Given the description of an element on the screen output the (x, y) to click on. 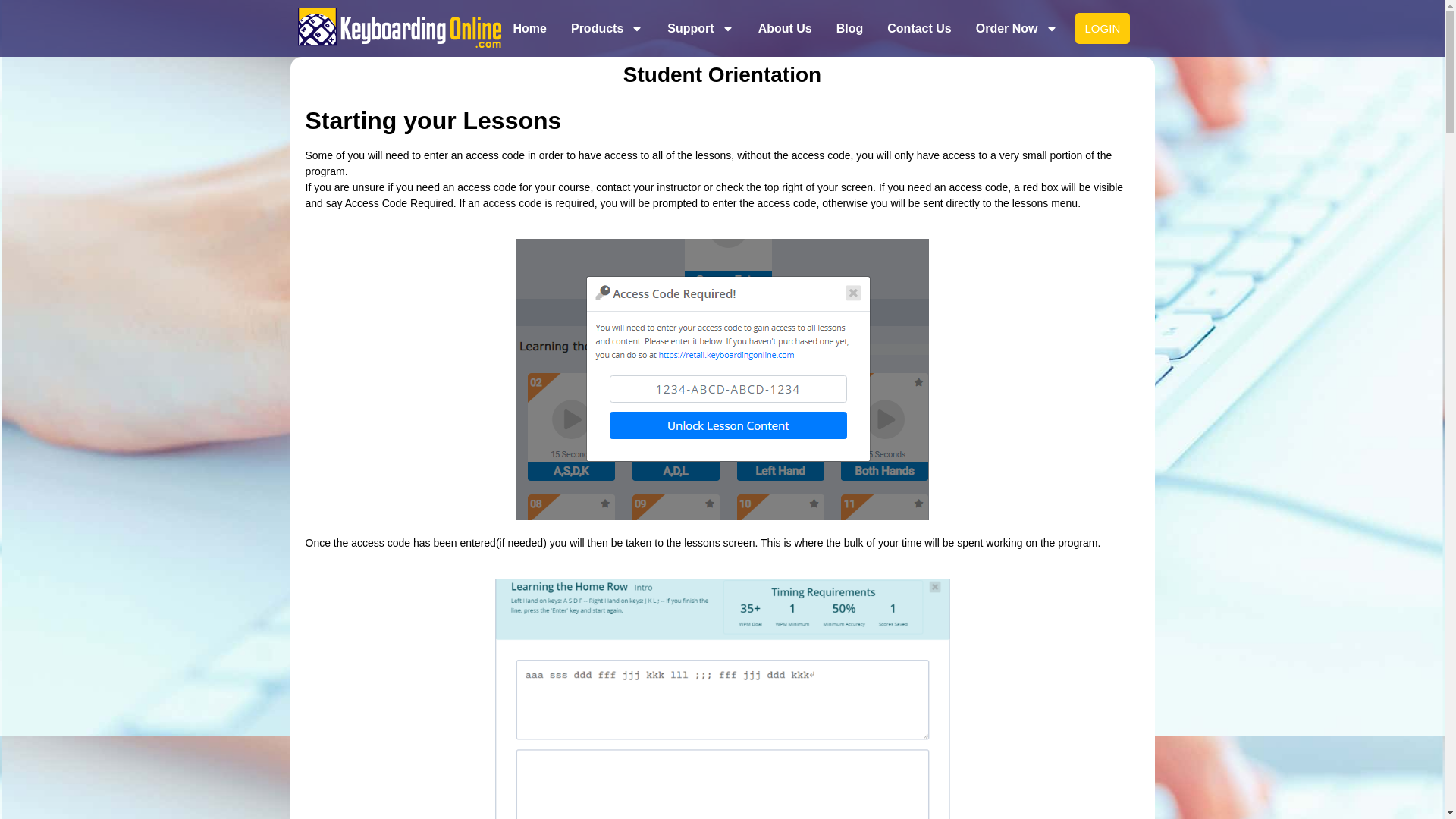
Contact Us (919, 28)
Blog (850, 28)
Support (700, 28)
Home (529, 28)
Order Now (1015, 28)
About Us (785, 28)
Products (606, 28)
